Given the description of an element on the screen output the (x, y) to click on. 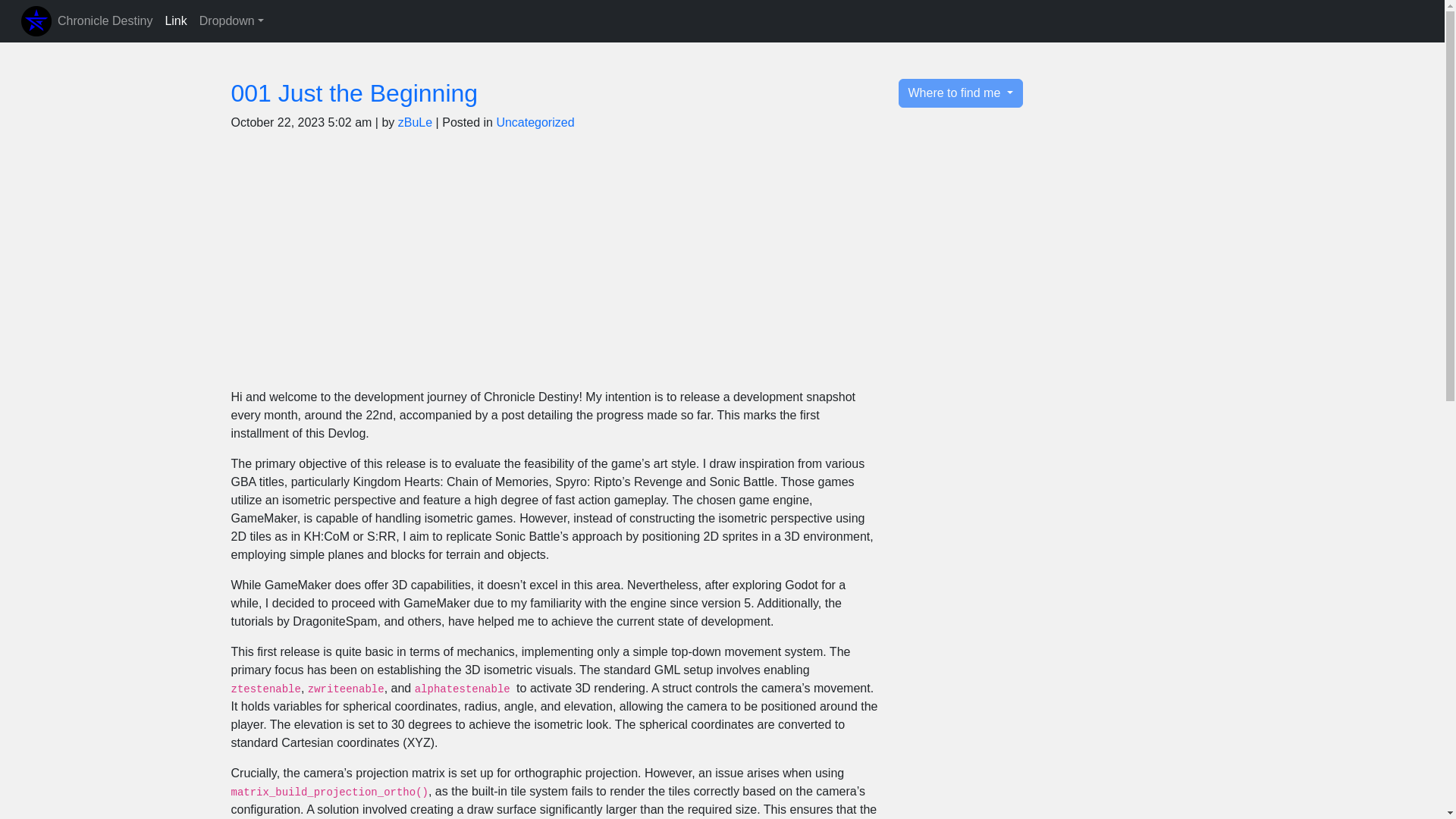
Uncategorized (534, 122)
001 Just the Beginning (353, 93)
Where to find me (960, 92)
Chronicle Destiny (104, 20)
Dropdown (231, 20)
Link (175, 20)
YouTube video player (442, 263)
zBuLe (414, 122)
